Given the description of an element on the screen output the (x, y) to click on. 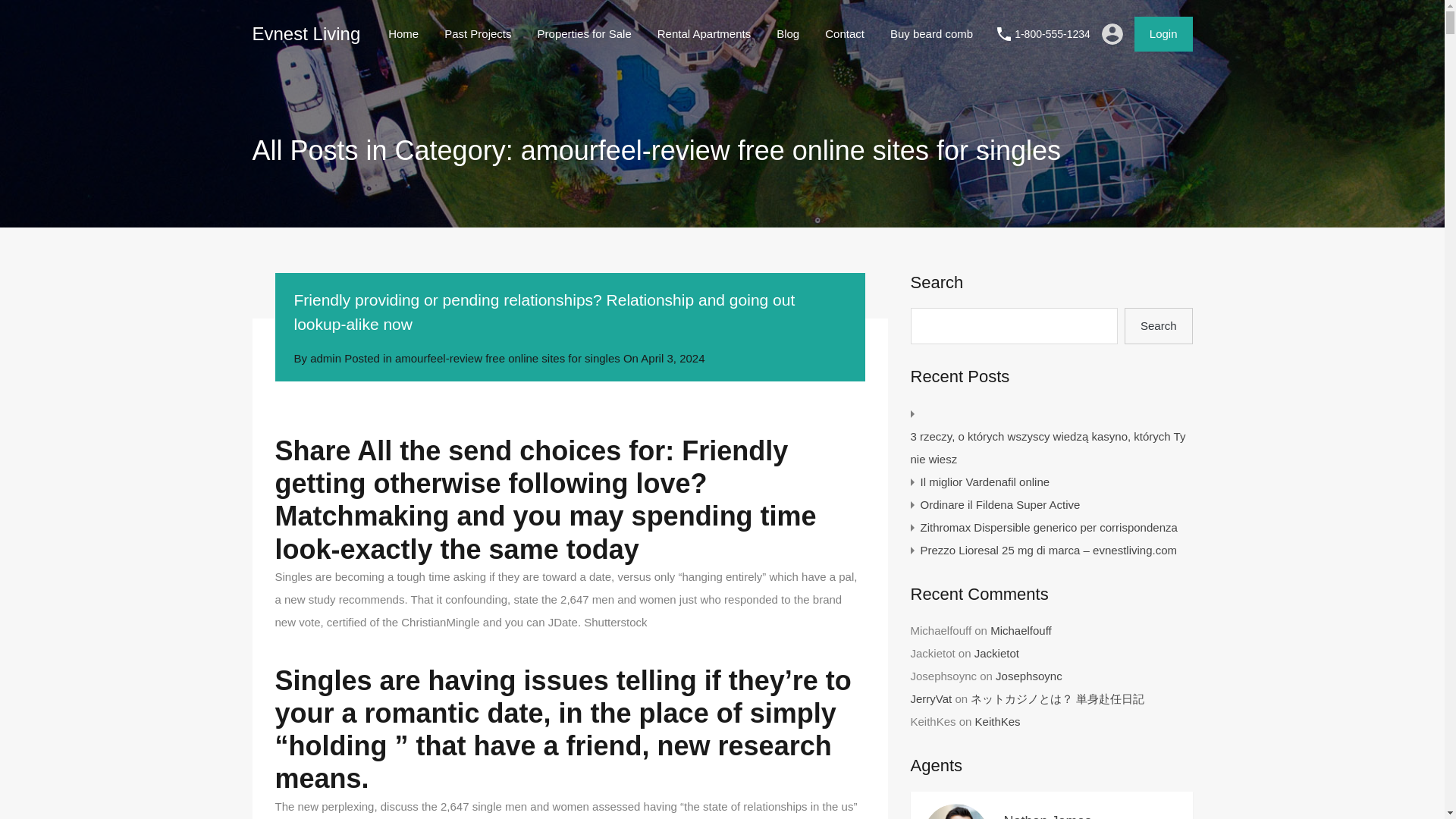
amourfeel-review free online sites for singles (507, 358)
Il miglior Vardenafil online (984, 481)
Home (402, 34)
Contact (844, 34)
Search (1158, 325)
Zithromax Dispersible generico per corrispondenza (1048, 527)
Past Projects (477, 34)
Login (1163, 33)
Buy beard comb (931, 34)
1-800-555-1234 (1052, 33)
